Given the description of an element on the screen output the (x, y) to click on. 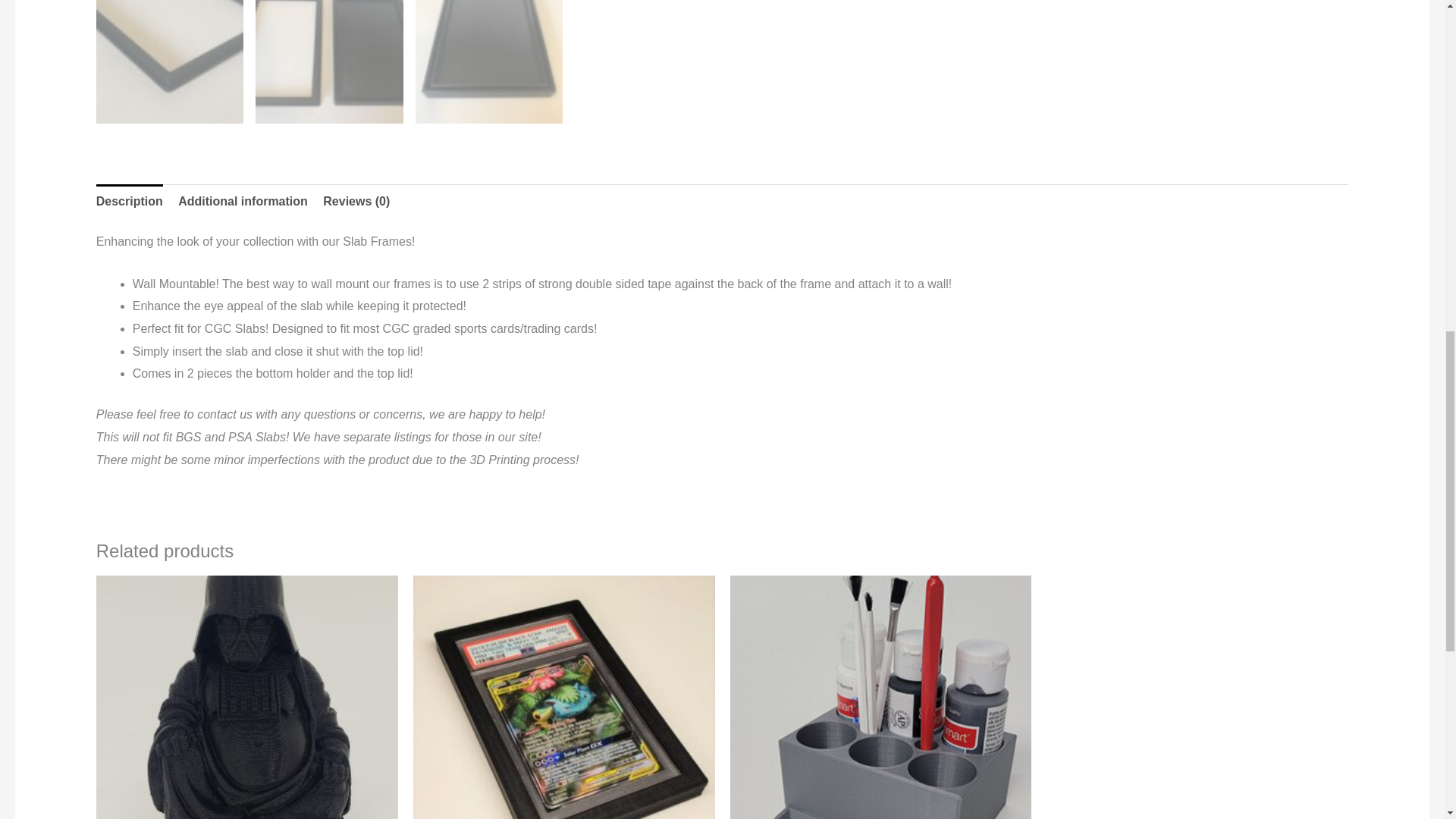
Additional information (242, 201)
Description (129, 201)
